Given the description of an element on the screen output the (x, y) to click on. 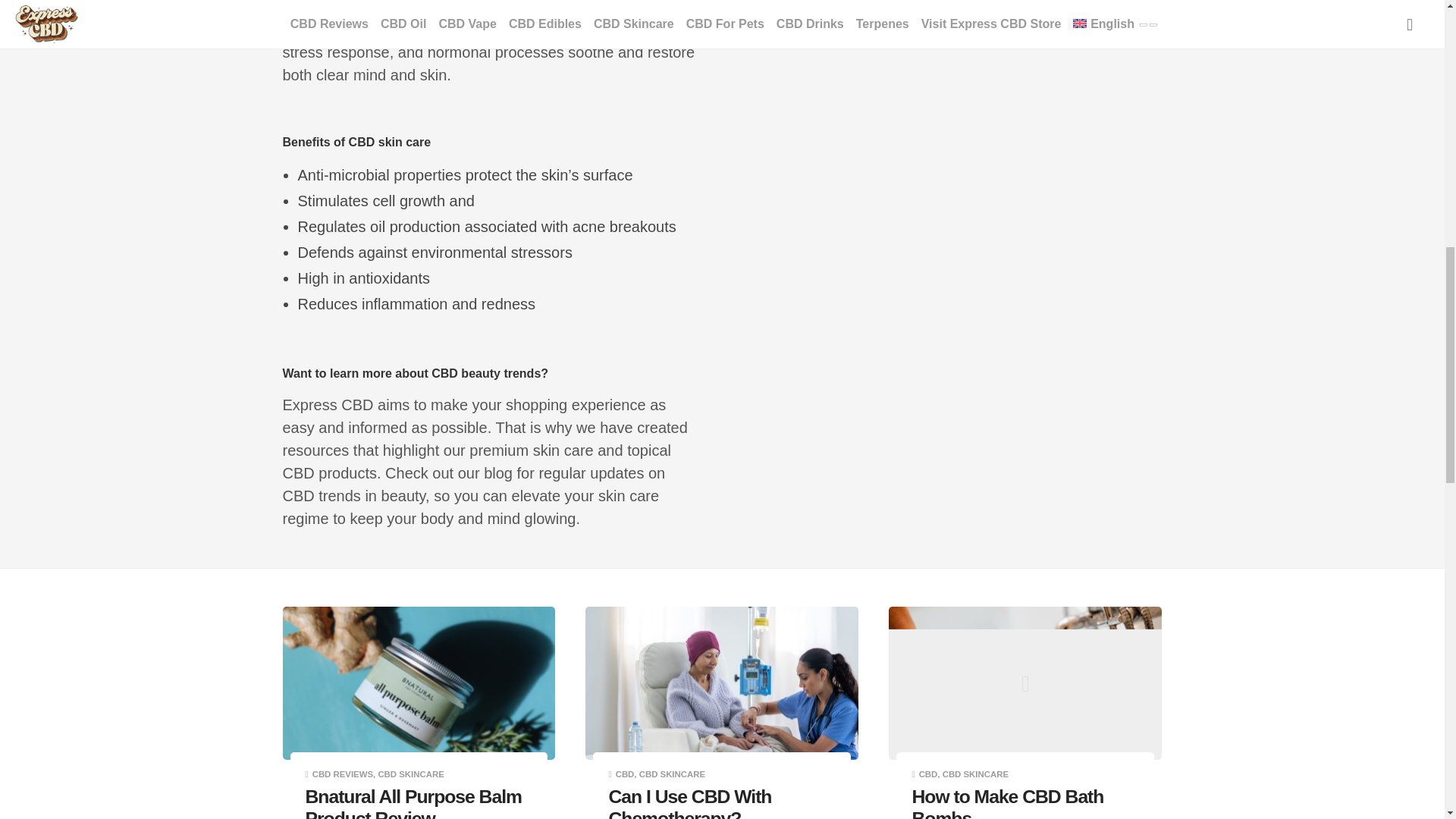
CBD (624, 773)
CBD REVIEWS (342, 773)
CBD SKINCARE (975, 773)
CBD (927, 773)
CBD SKINCARE (410, 773)
CBD SKINCARE (671, 773)
